Given the description of an element on the screen output the (x, y) to click on. 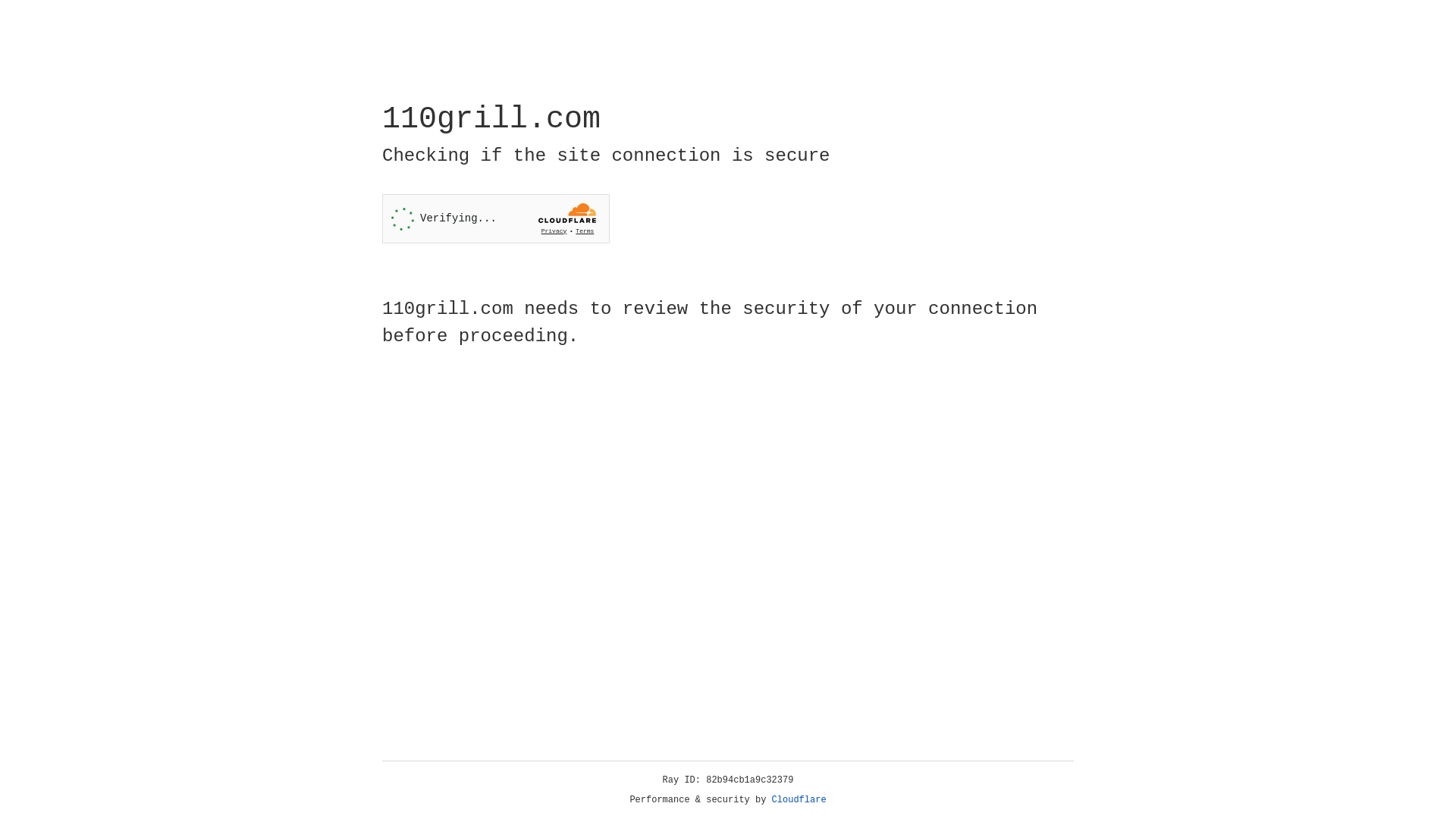
Widget containing a Cloudflare security challenge Element type: hover (495, 218)
Cloudflare Element type: text (798, 799)
